Given the description of an element on the screen output the (x, y) to click on. 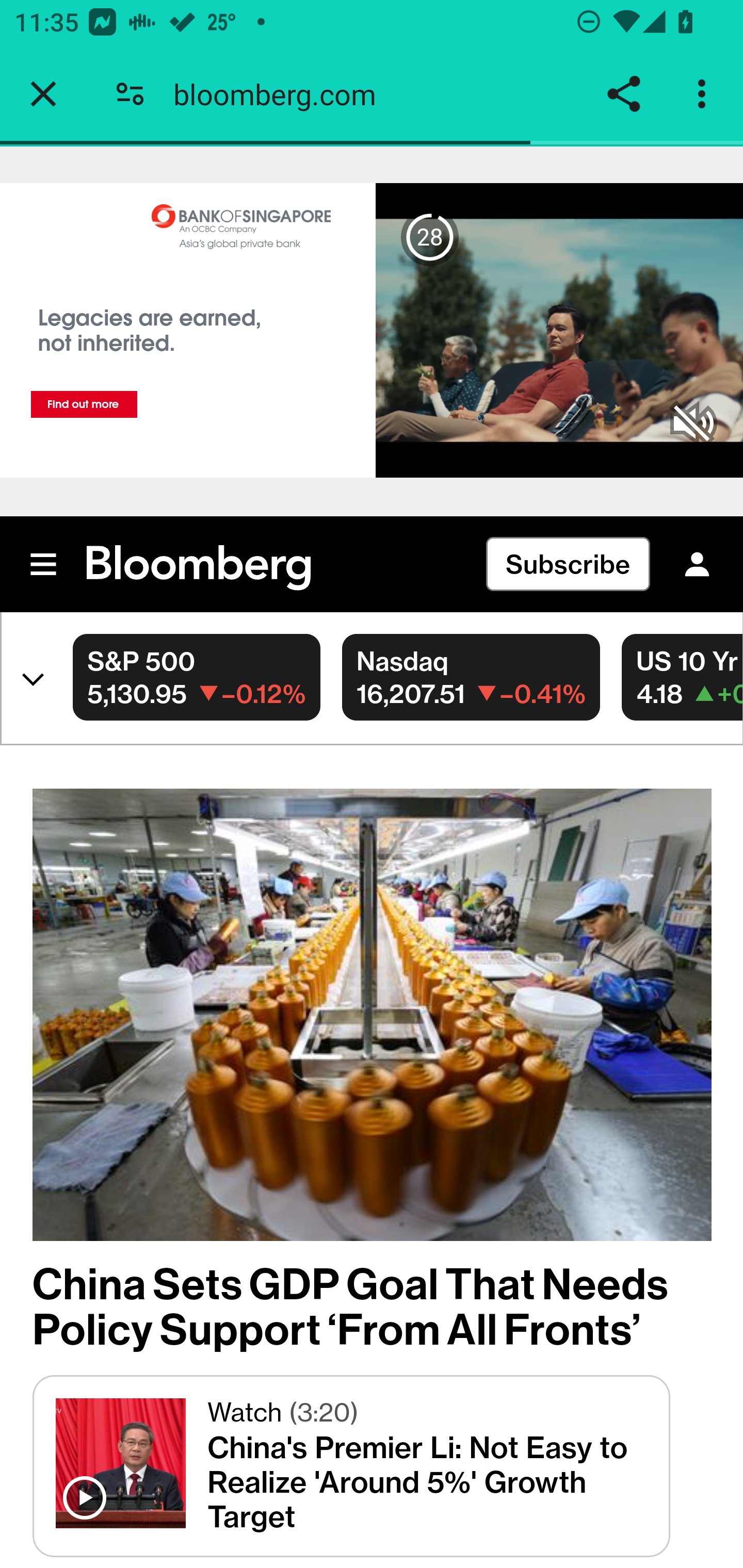
Close tab (43, 93)
Share (623, 93)
Customize and control Google Chrome (705, 93)
Connection is secure (129, 93)
bloomberg.com (281, 93)
Mobile Menu Button (44, 564)
Subscribe (567, 564)
Sign In (696, 564)
Bloomberg (199, 568)
Top Securities Chevron Down (27, 676)
